Given the description of an element on the screen output the (x, y) to click on. 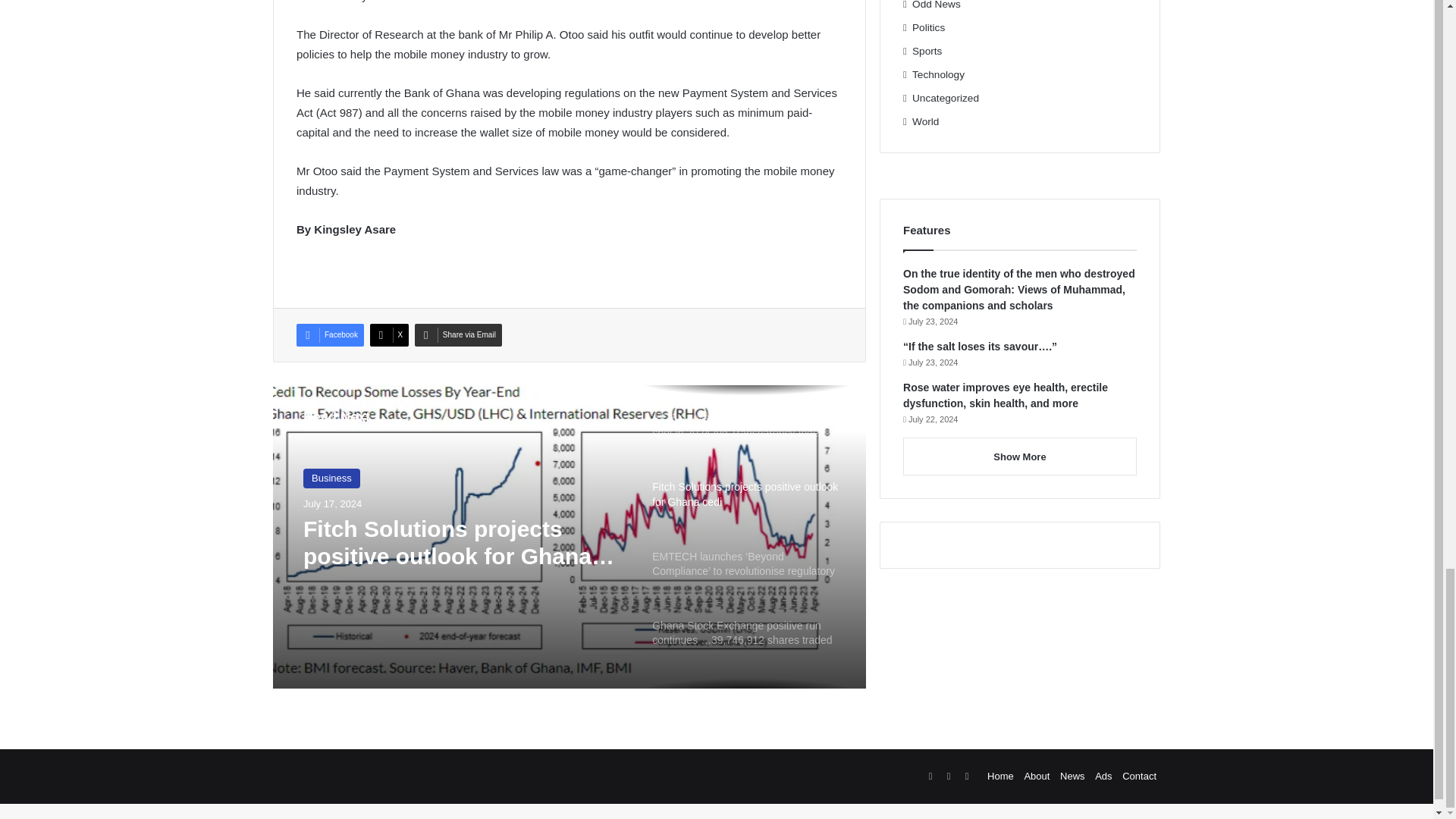
X (389, 334)
X (389, 334)
Facebook (330, 334)
Share via Email (458, 334)
Share via Email (458, 334)
Facebook (330, 334)
